Given the description of an element on the screen output the (x, y) to click on. 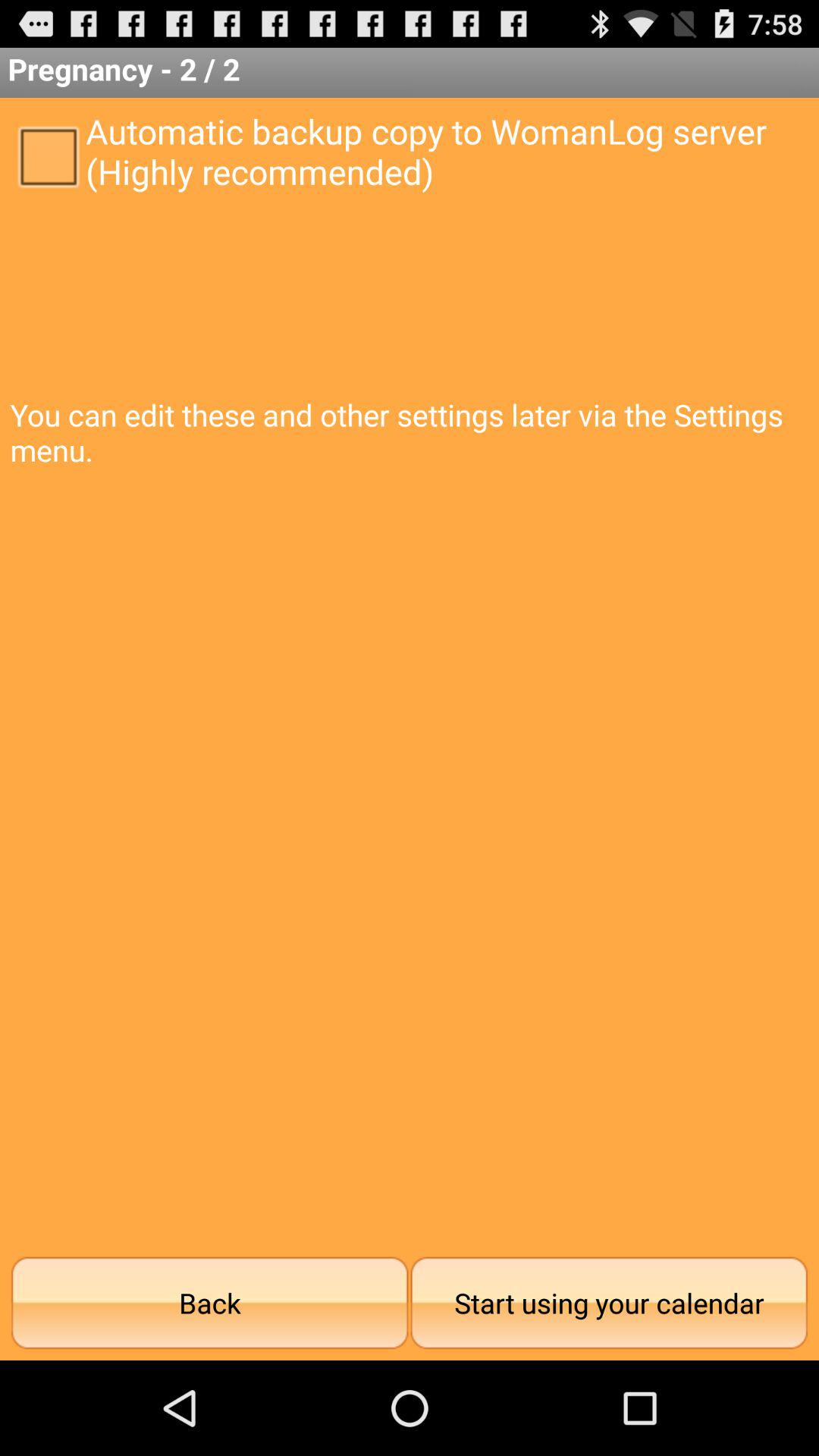
press the item next to the start using your (209, 1302)
